Given the description of an element on the screen output the (x, y) to click on. 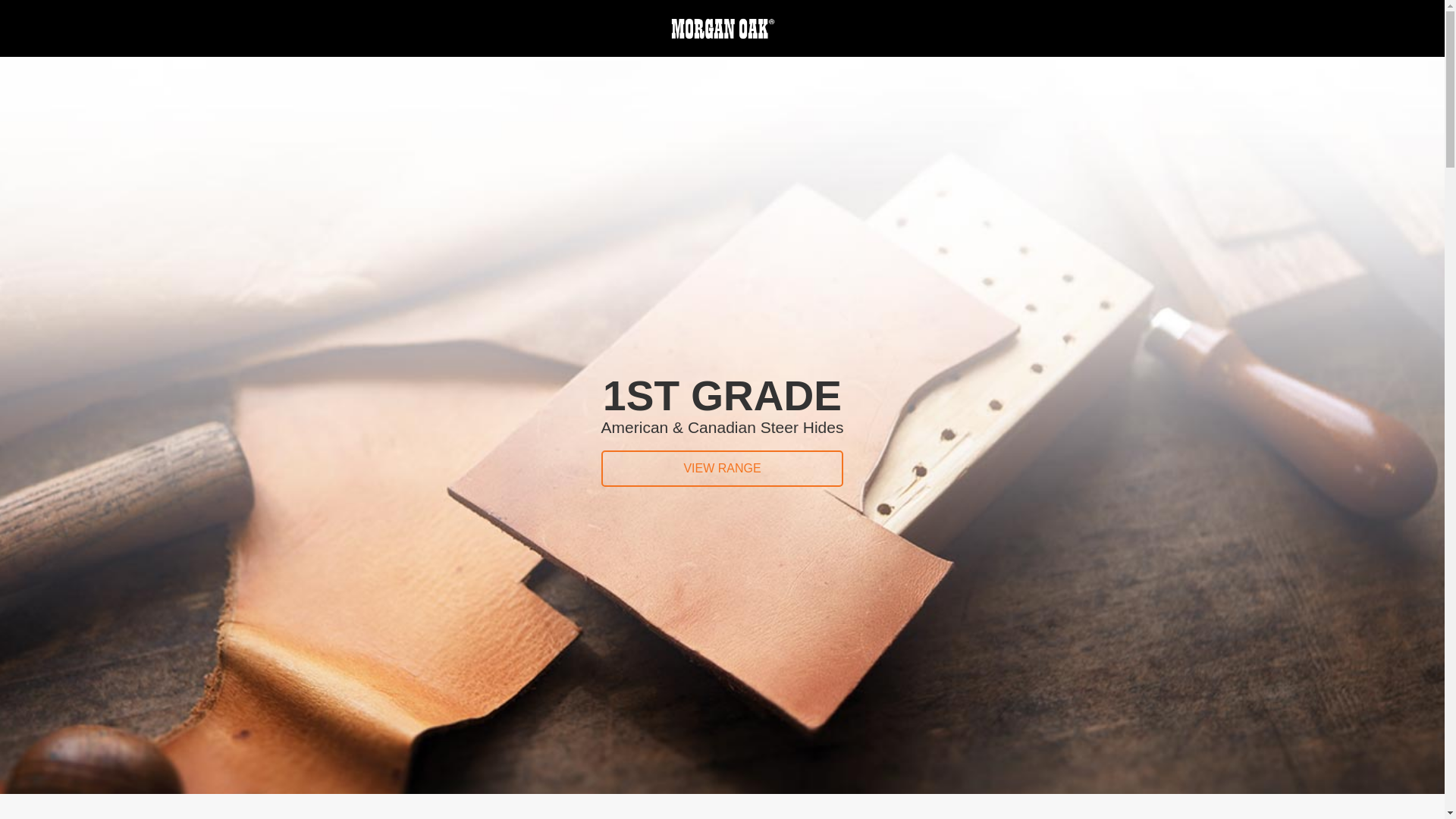
VIEW RANGE Element type: text (722, 468)
